Given the description of an element on the screen output the (x, y) to click on. 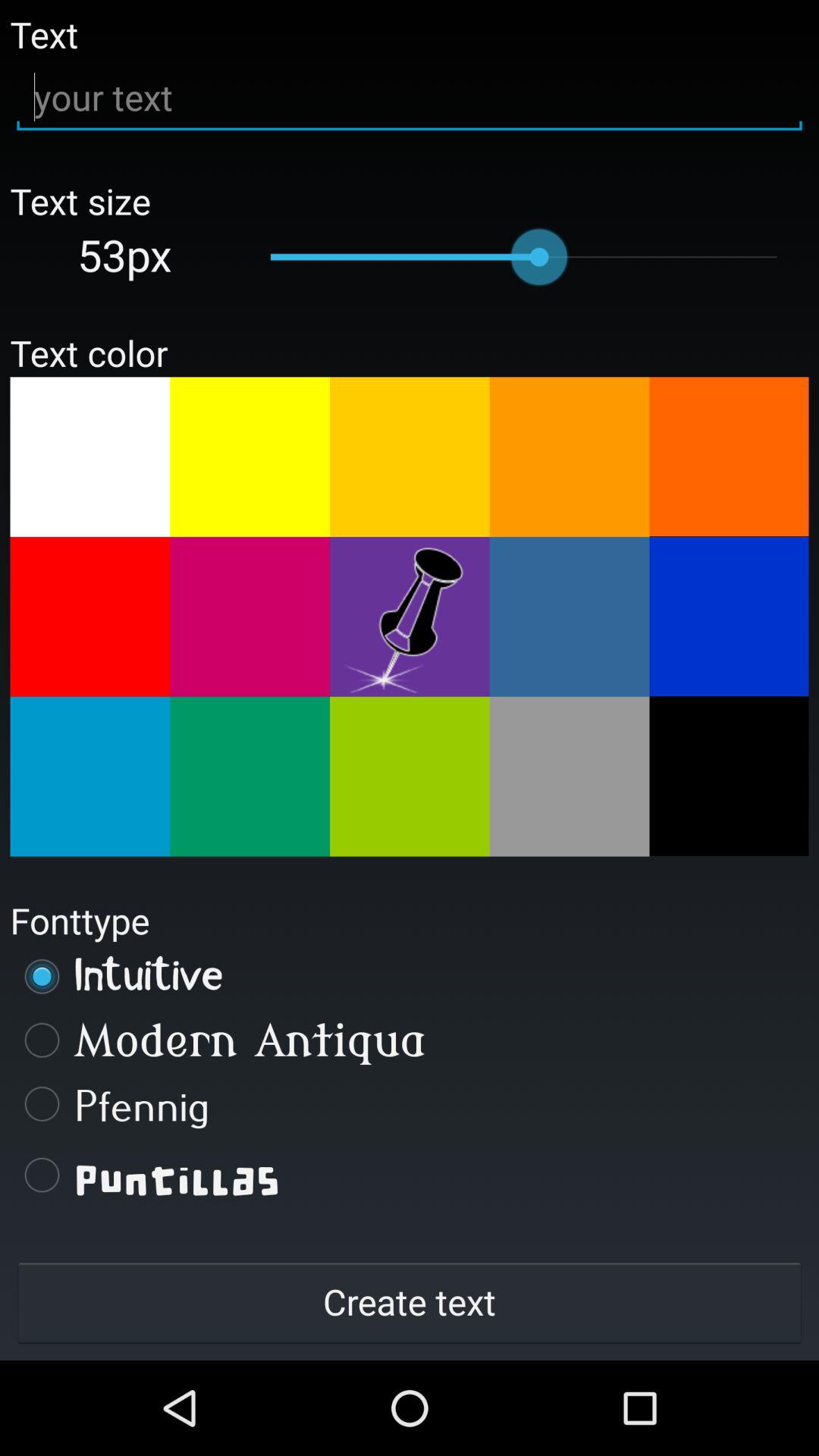
select medium orange (569, 456)
